Given the description of an element on the screen output the (x, y) to click on. 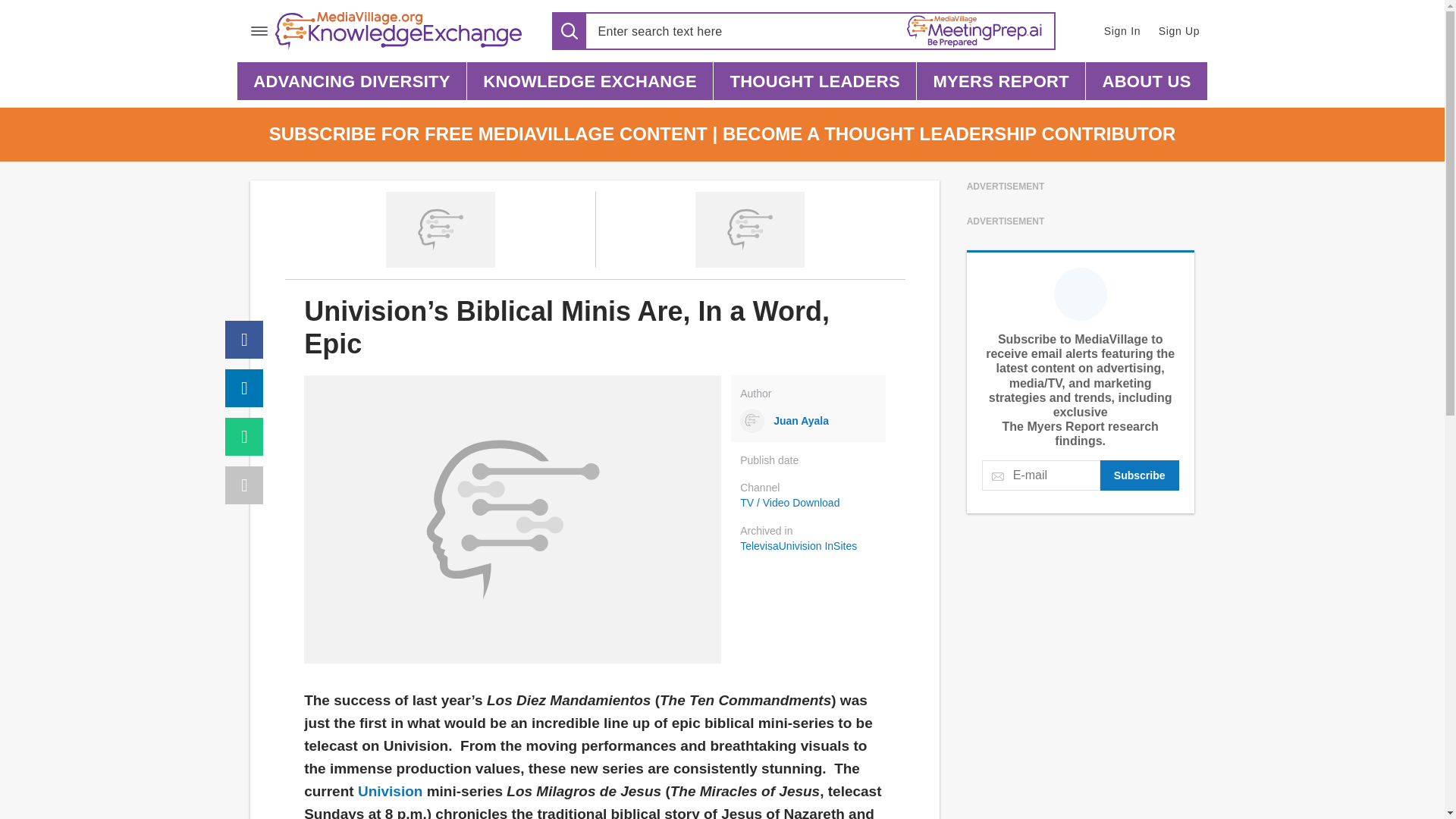
TelevisaUnivision InSites (812, 545)
THOUGHT LEADERS (814, 80)
Sign Up (1179, 30)
Sign In (1121, 30)
ABOUT US (1146, 80)
MYERS REPORT (1000, 80)
Email (244, 436)
LinkedIn (244, 388)
Print (244, 485)
Juan Ayala (807, 420)
